Given the description of an element on the screen output the (x, y) to click on. 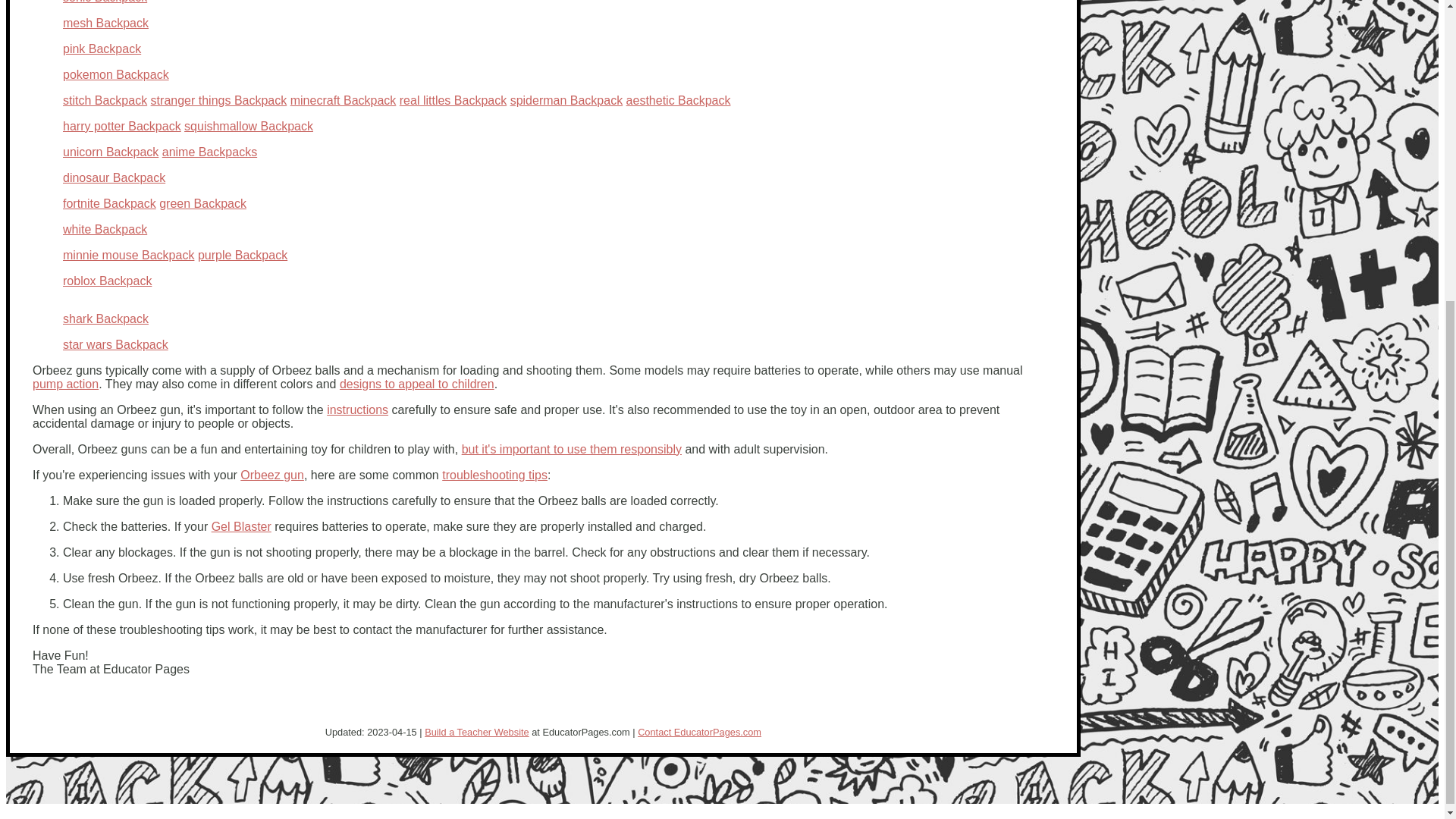
aesthetic Backpack (678, 100)
but it's important to use them responsibly (571, 449)
dinosaur Backpack (113, 177)
roblox Backpack (106, 280)
pump action (65, 383)
instructions (357, 409)
shark Backpack (105, 318)
real littles Backpack (452, 100)
spiderman Backpack (567, 100)
pokemon Backpack (115, 74)
fortnite Backpack (108, 203)
mesh Backpack (105, 22)
pink Backpack (101, 48)
purple Backpack (242, 254)
minecraft Backpack (342, 100)
